Given the description of an element on the screen output the (x, y) to click on. 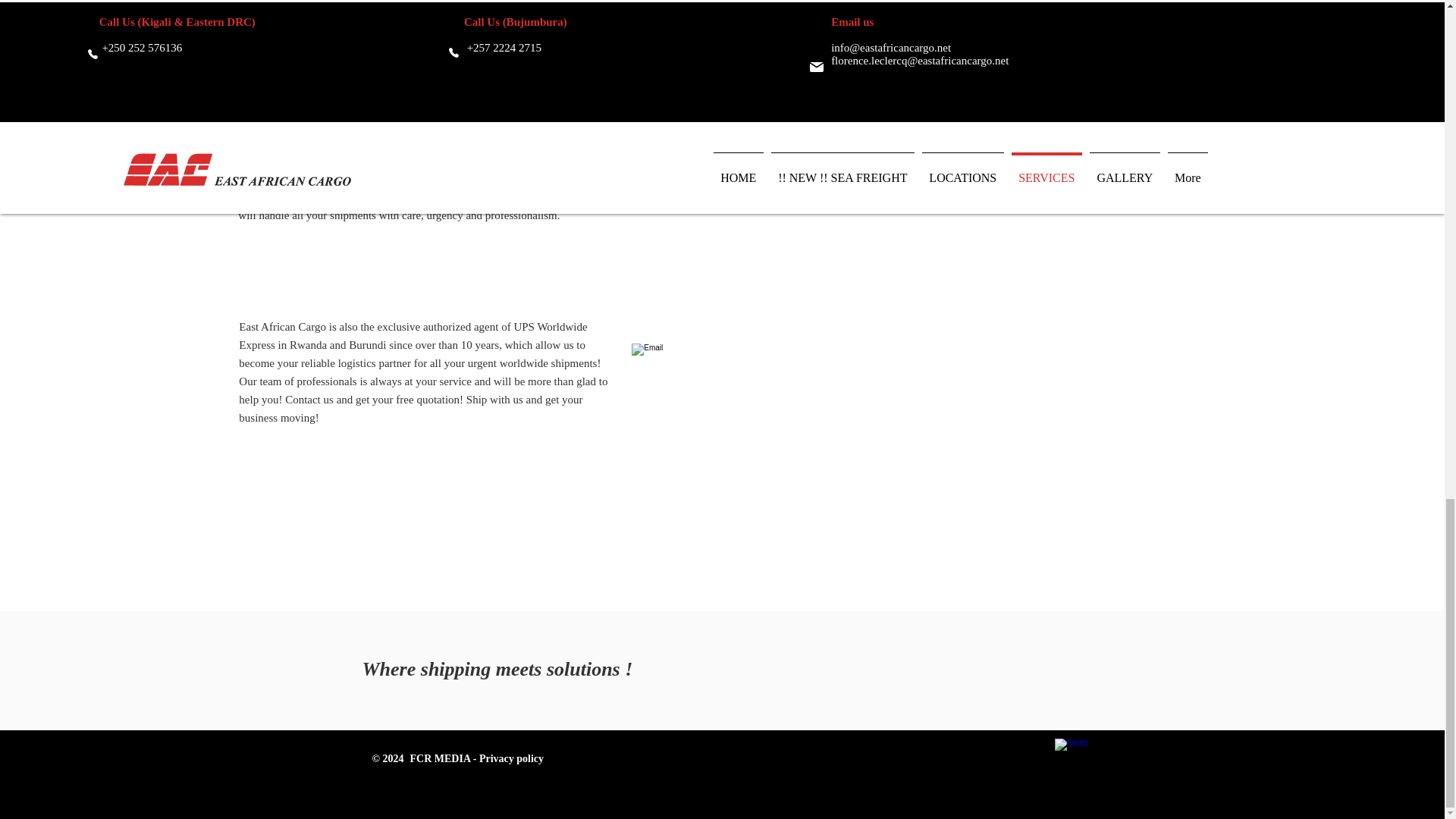
Send (1207, 92)
Privacy policy (511, 758)
FCR MEDIA (439, 758)
